Given the description of an element on the screen output the (x, y) to click on. 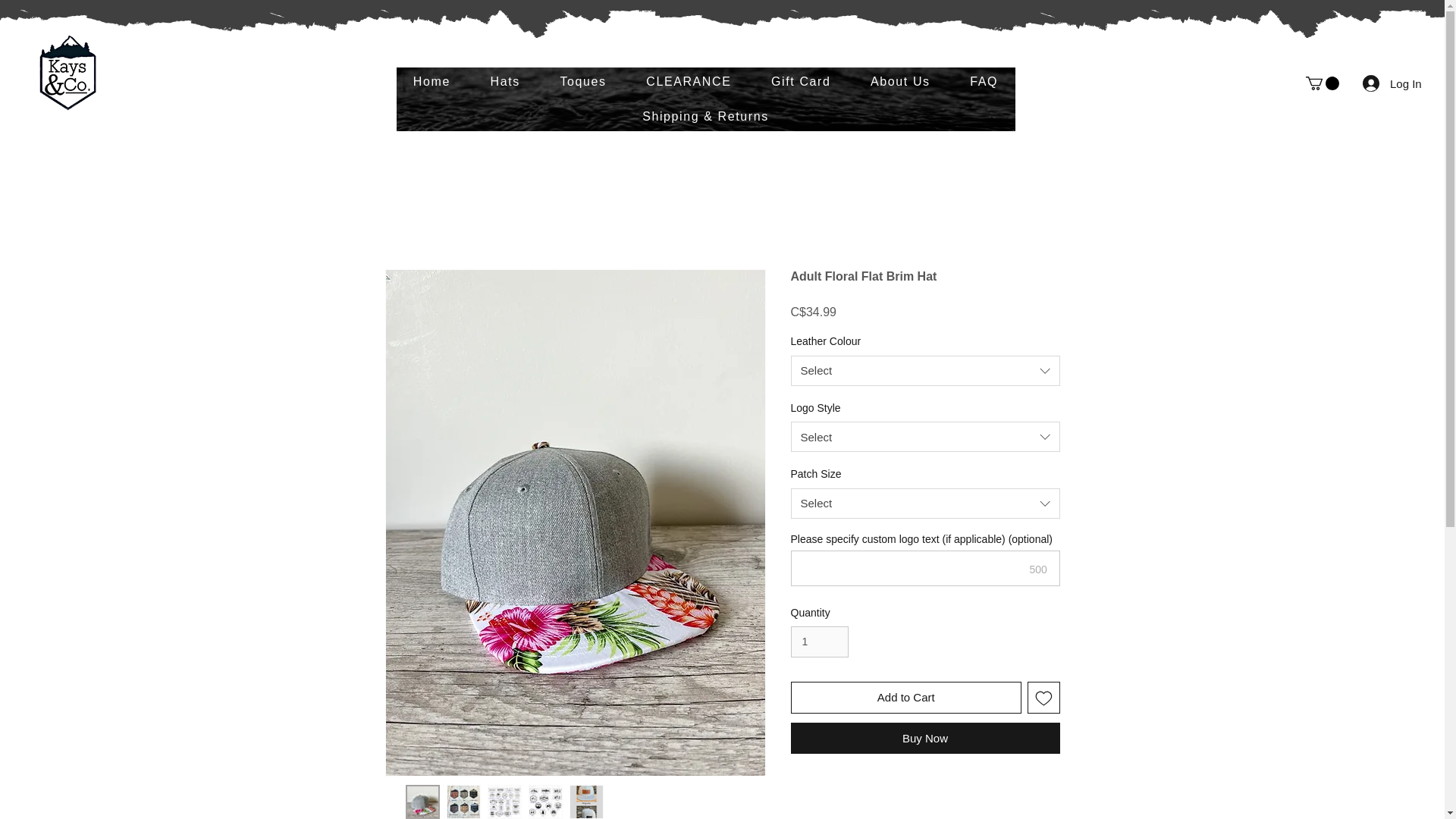
1 (818, 641)
Select (924, 503)
About Us (900, 81)
Select (924, 370)
Home (431, 81)
Log In (1377, 83)
Hats (505, 81)
Add to Cart (906, 697)
Buy Now (924, 737)
Select (924, 436)
